Given the description of an element on the screen output the (x, y) to click on. 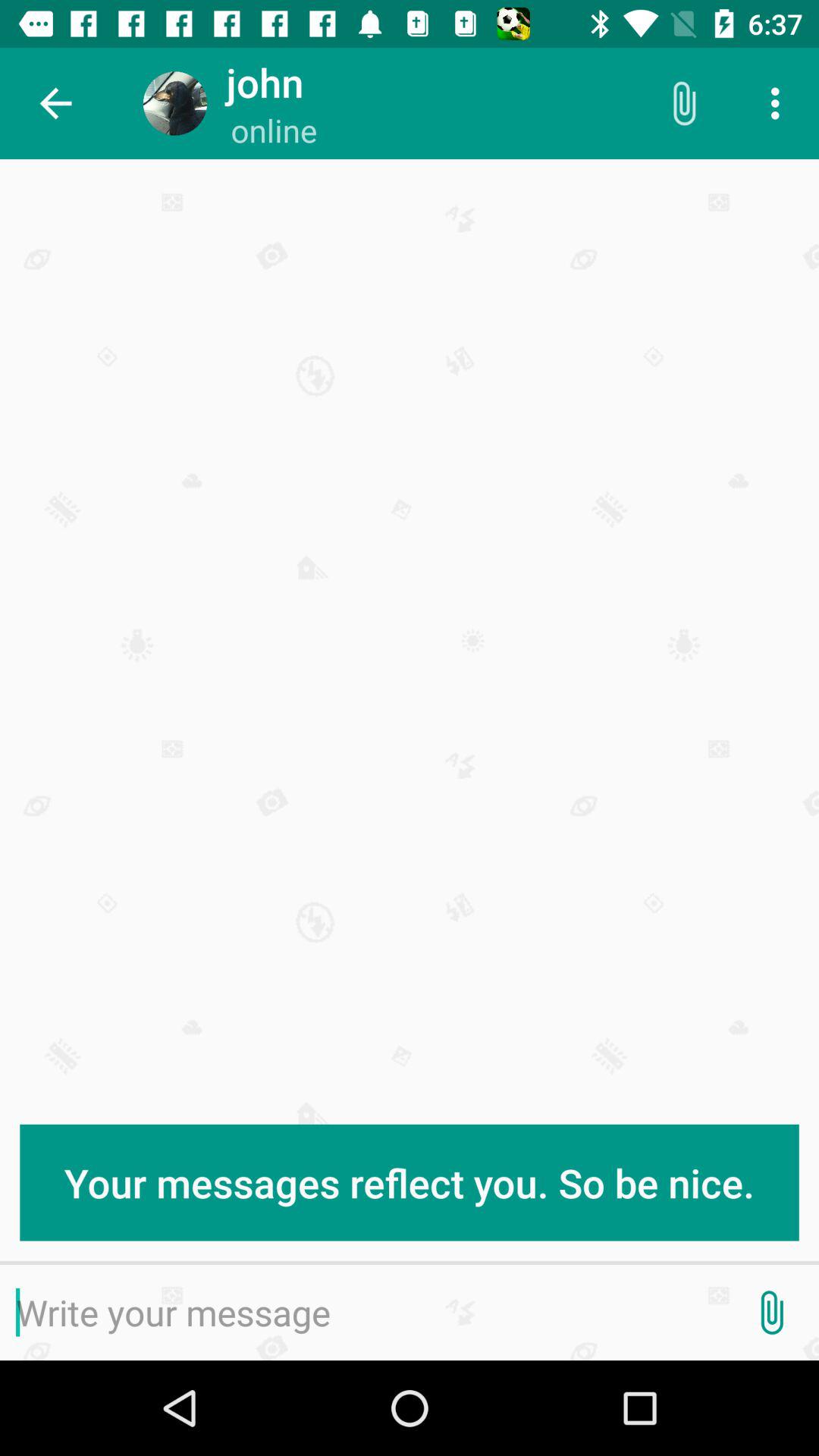
turn off the icon above the your messages reflect item (683, 103)
